Given the description of an element on the screen output the (x, y) to click on. 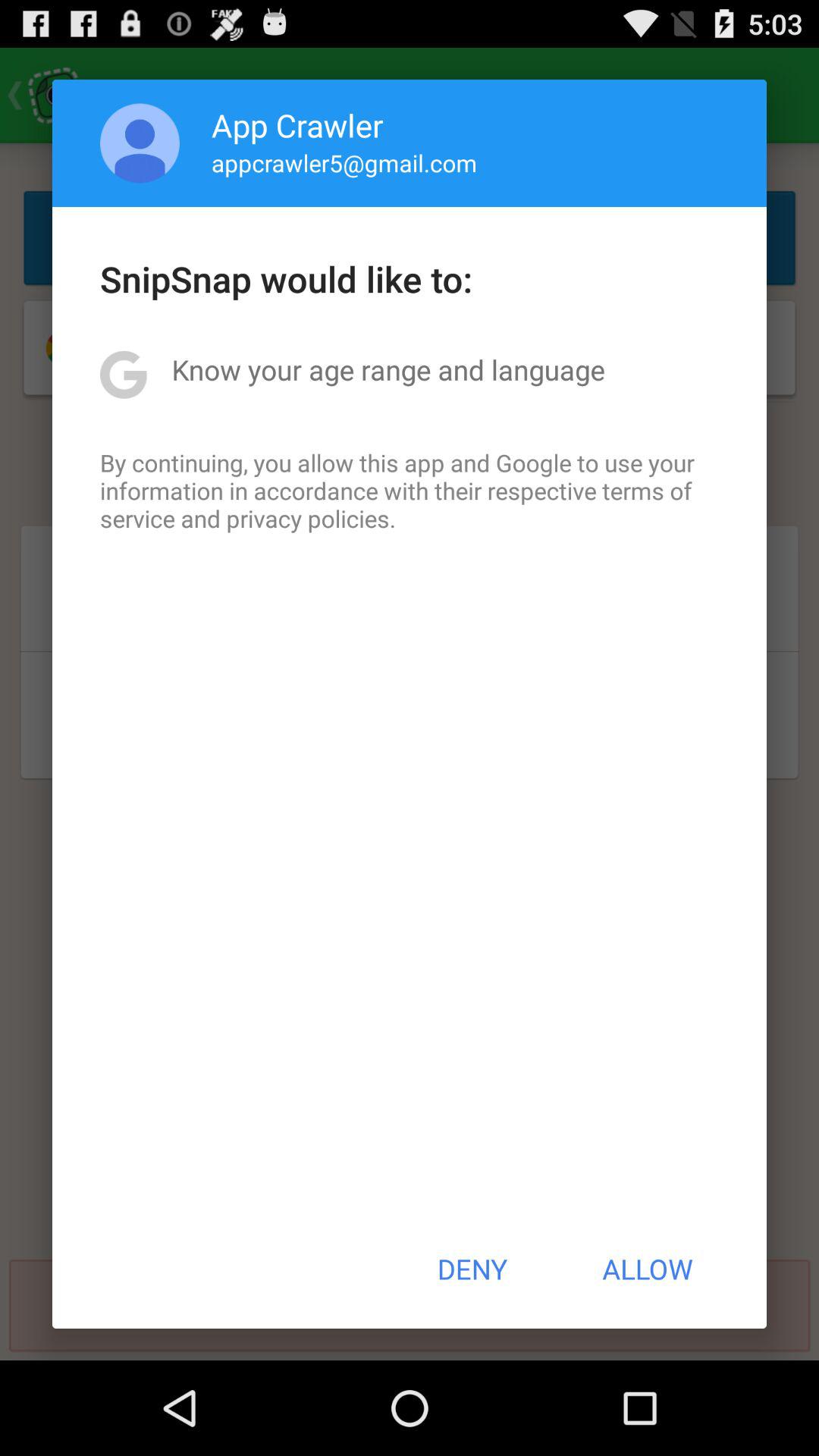
click deny button (471, 1268)
